Given the description of an element on the screen output the (x, y) to click on. 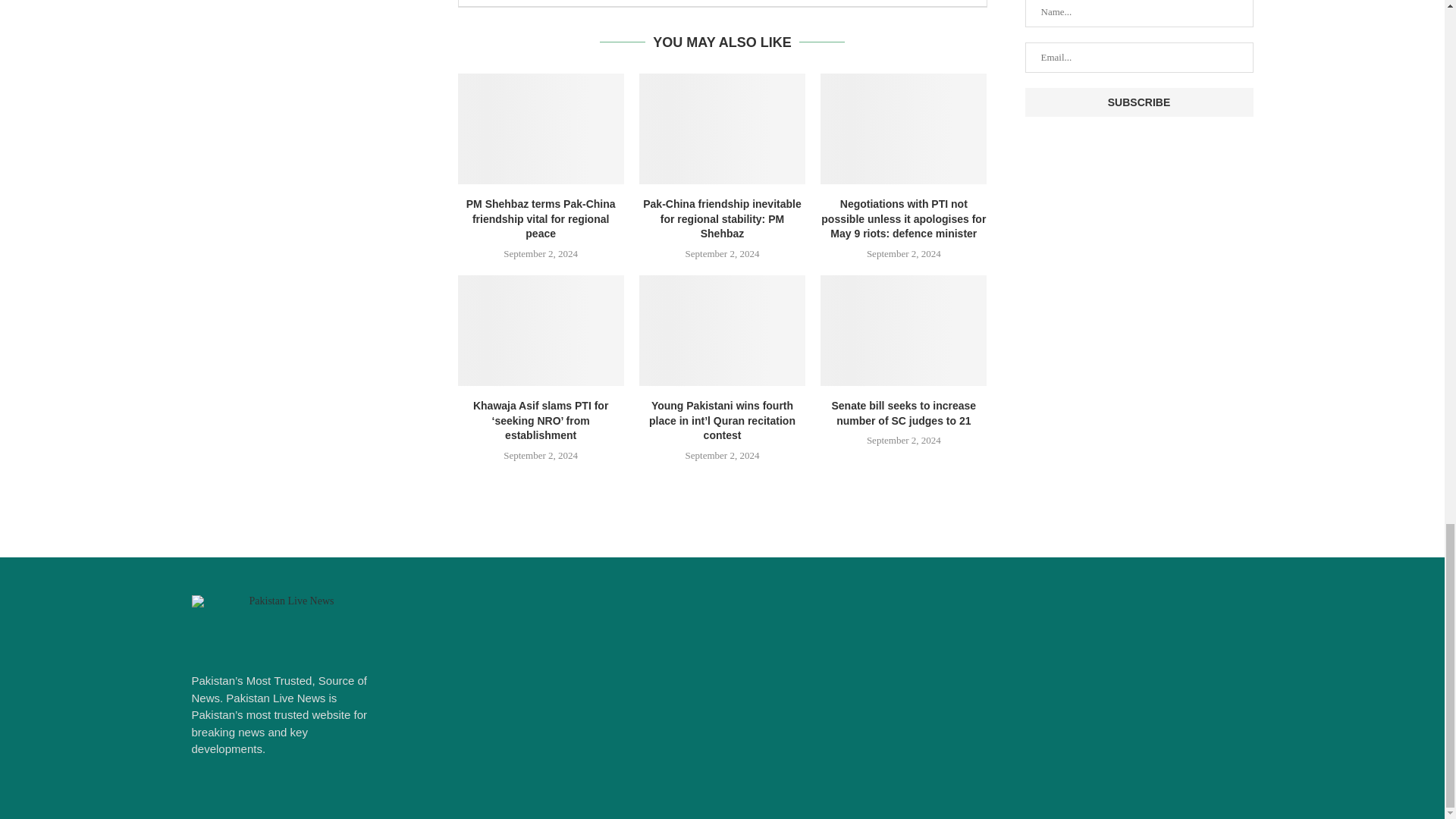
Senate bill seeks to increase number of SC judges to 21 (904, 330)
Subscribe (1139, 102)
